Given the description of an element on the screen output the (x, y) to click on. 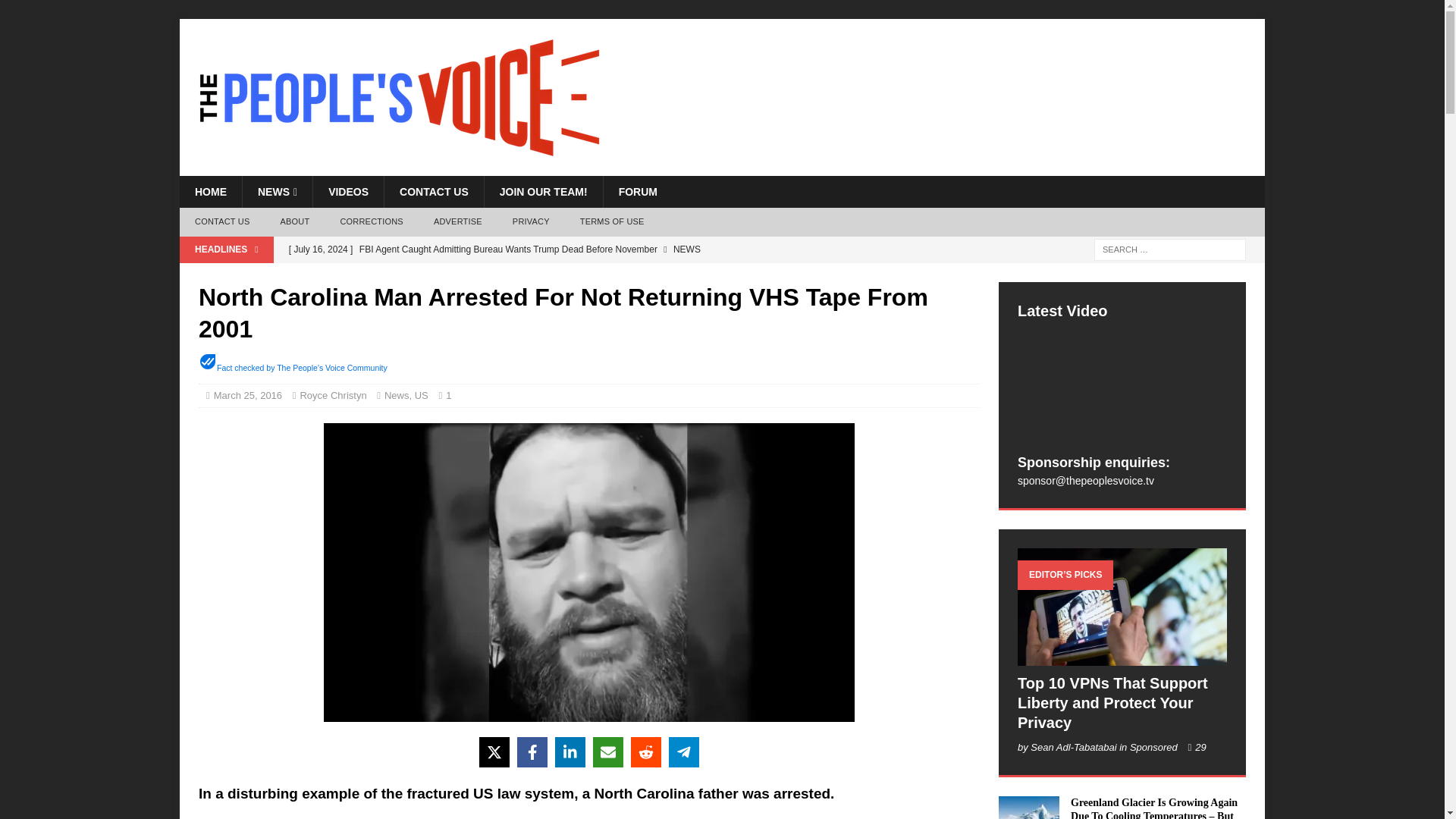
ABOUT (294, 222)
CORRECTIONS (370, 222)
FORUM (637, 192)
TERMS OF USE (611, 222)
HOME (210, 192)
VIDEOS (348, 192)
PRIVACY (530, 222)
CONTACT US (433, 192)
NEWS (277, 192)
CONTACT US (221, 222)
JOIN OUR TEAM! (542, 192)
ADVERTISE (458, 222)
